Given the description of an element on the screen output the (x, y) to click on. 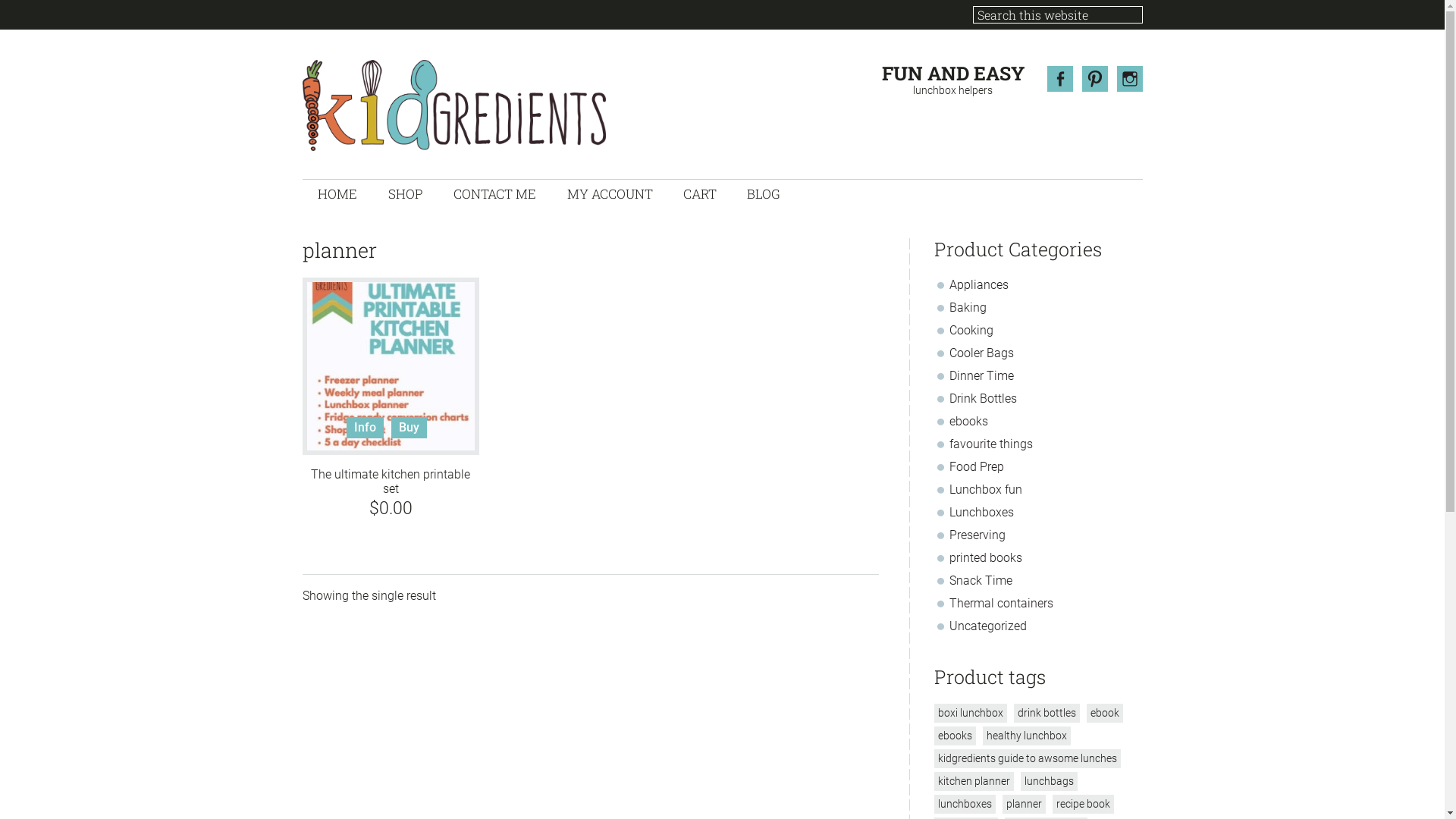
favourite things Element type: text (990, 443)
CART Element type: text (699, 193)
Snack Time Element type: text (980, 580)
boxi lunchbox Element type: text (970, 712)
ebooks Element type: text (968, 421)
Lunchboxes Element type: text (981, 512)
Go Element type: text (1142, 5)
Food Prep Element type: text (976, 466)
Pinterest Element type: text (1094, 78)
Info Element type: text (364, 427)
Facebook Element type: text (1059, 78)
Cooking Element type: text (971, 330)
kidgredients guide to awsome lunches Element type: text (1027, 758)
Buy Element type: text (408, 427)
Dinner Time Element type: text (981, 375)
MY ACCOUNT Element type: text (610, 193)
Uncategorized Element type: text (987, 625)
kitchen planner Element type: text (973, 780)
planner Element type: text (1023, 803)
Lunchbox fun Element type: text (985, 489)
Drink Bottles Element type: text (982, 398)
Preserving Element type: text (977, 534)
ebook Element type: text (1103, 712)
SHOP Element type: text (405, 193)
Thermal containers Element type: text (1001, 603)
healthy lunchbox Element type: text (1026, 735)
lunchbags Element type: text (1048, 780)
printed books Element type: text (985, 557)
Cooler Bags Element type: text (981, 352)
CONTACT ME Element type: text (495, 193)
BLOG Element type: text (762, 193)
HOME Element type: text (336, 193)
Appliances Element type: text (978, 284)
ebooks Element type: text (954, 735)
drink bottles Element type: text (1046, 712)
recipe book Element type: text (1082, 803)
Baking Element type: text (967, 307)
Instagram Element type: text (1129, 78)
Skip to primary navigation Element type: text (0, 0)
lunchboxes Element type: text (964, 803)
